Given the description of an element on the screen output the (x, y) to click on. 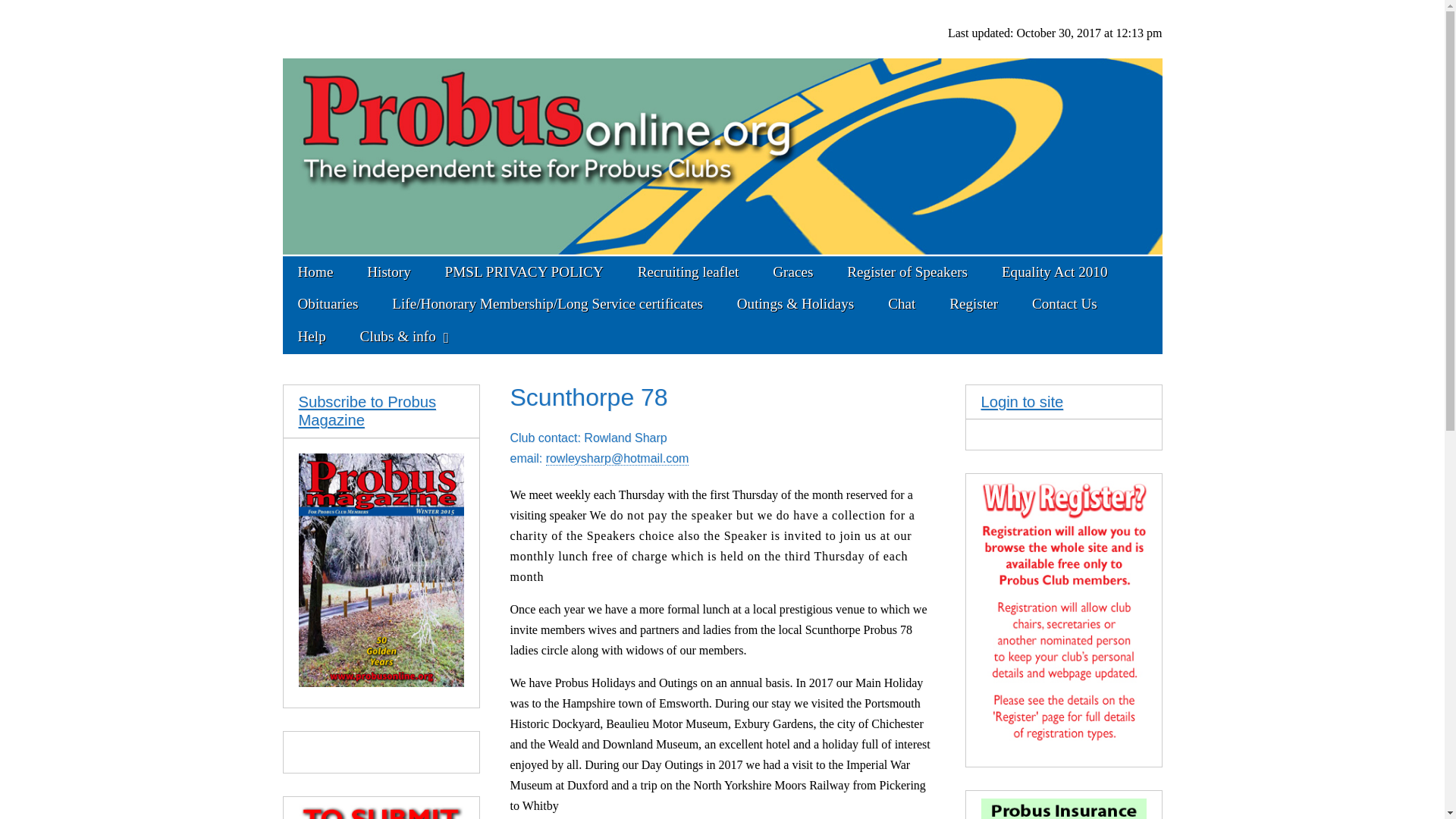
Register of Speakers (906, 272)
Help (311, 336)
PMSL PRIVACY POLICY (523, 272)
Equality Act 2010 (1054, 272)
Resources (547, 304)
Register (973, 304)
probusonline.org (451, 44)
Obituaries (327, 304)
Chat (901, 304)
Recruiting leaflet (688, 272)
Login to site (1022, 401)
Subscribe to Probus Magazine (367, 410)
Contact Us (1064, 304)
Home (314, 272)
